Given the description of an element on the screen output the (x, y) to click on. 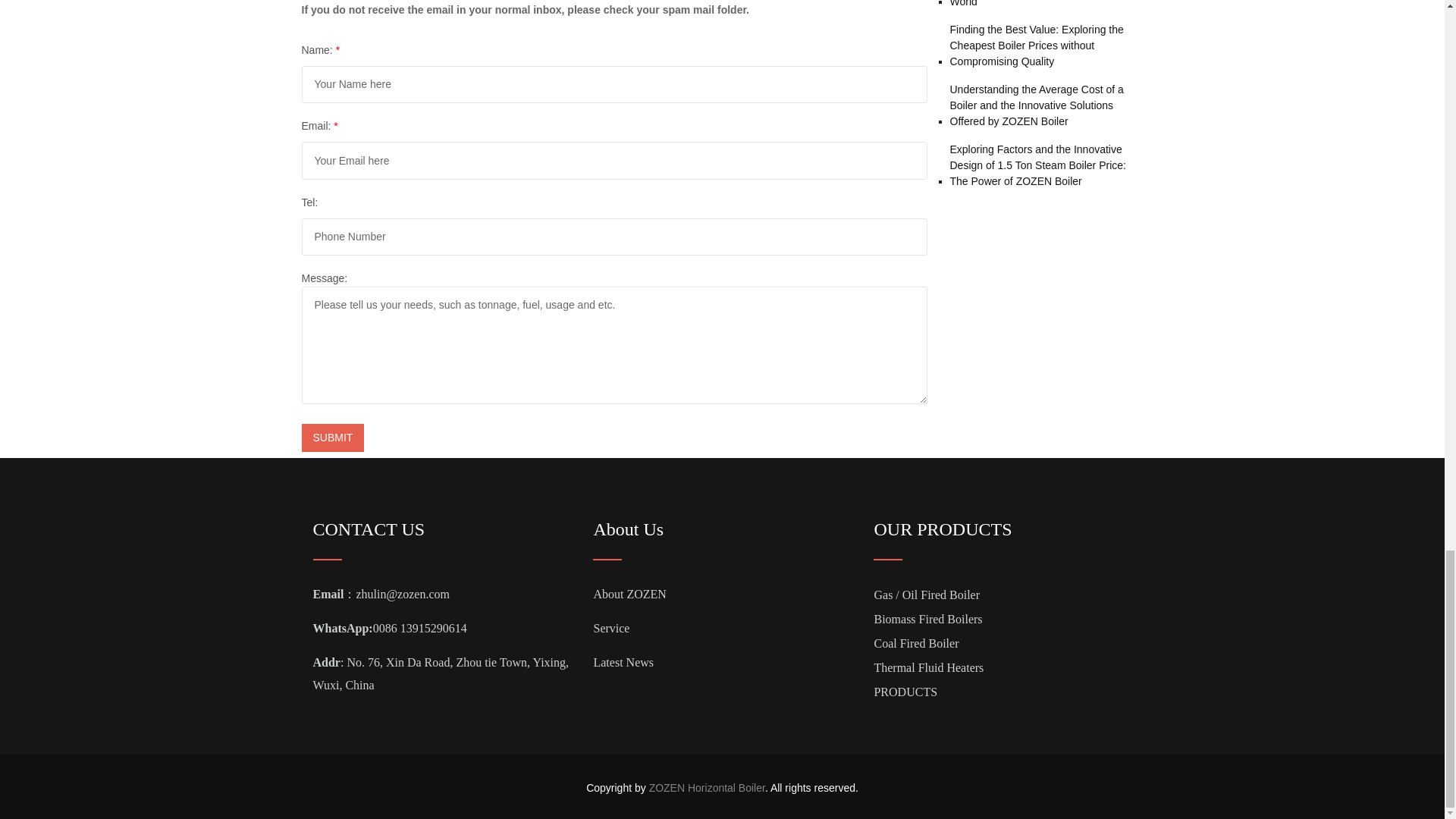
SUBMIT (333, 438)
SUBMIT (333, 438)
Exploring Top 10 Boiler Manufacturers in World (1045, 4)
Please enter your phone number (614, 236)
